Given the description of an element on the screen output the (x, y) to click on. 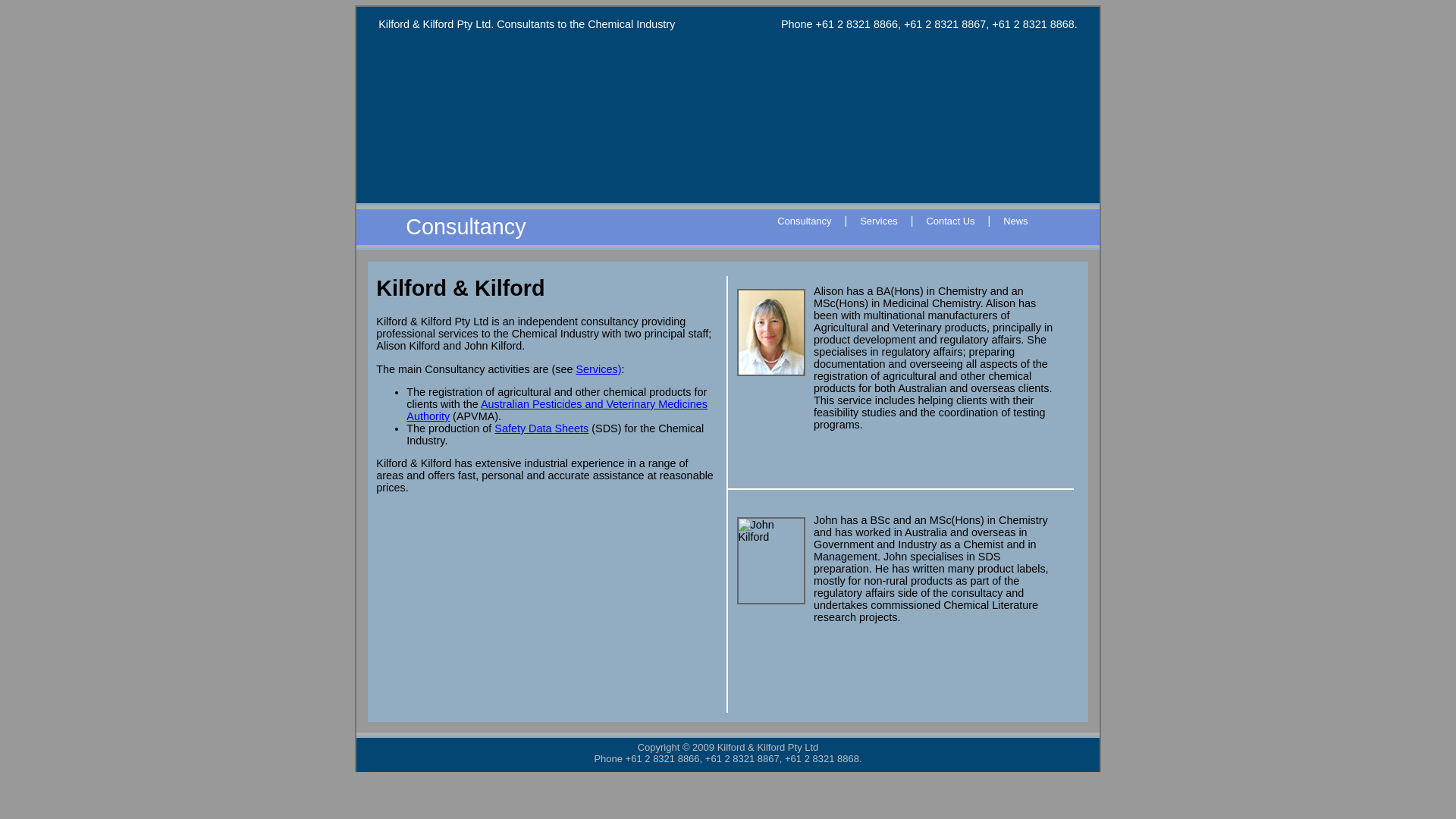
Australian Pesticides and Veterinary Medicines Authority Element type: text (556, 410)
Contact Us Element type: text (950, 220)
Services) Element type: text (598, 369)
Services Element type: text (879, 220)
Safety Data Sheets Element type: text (541, 428)
Consultancy Element type: text (804, 220)
News Element type: text (1015, 220)
